Given the description of an element on the screen output the (x, y) to click on. 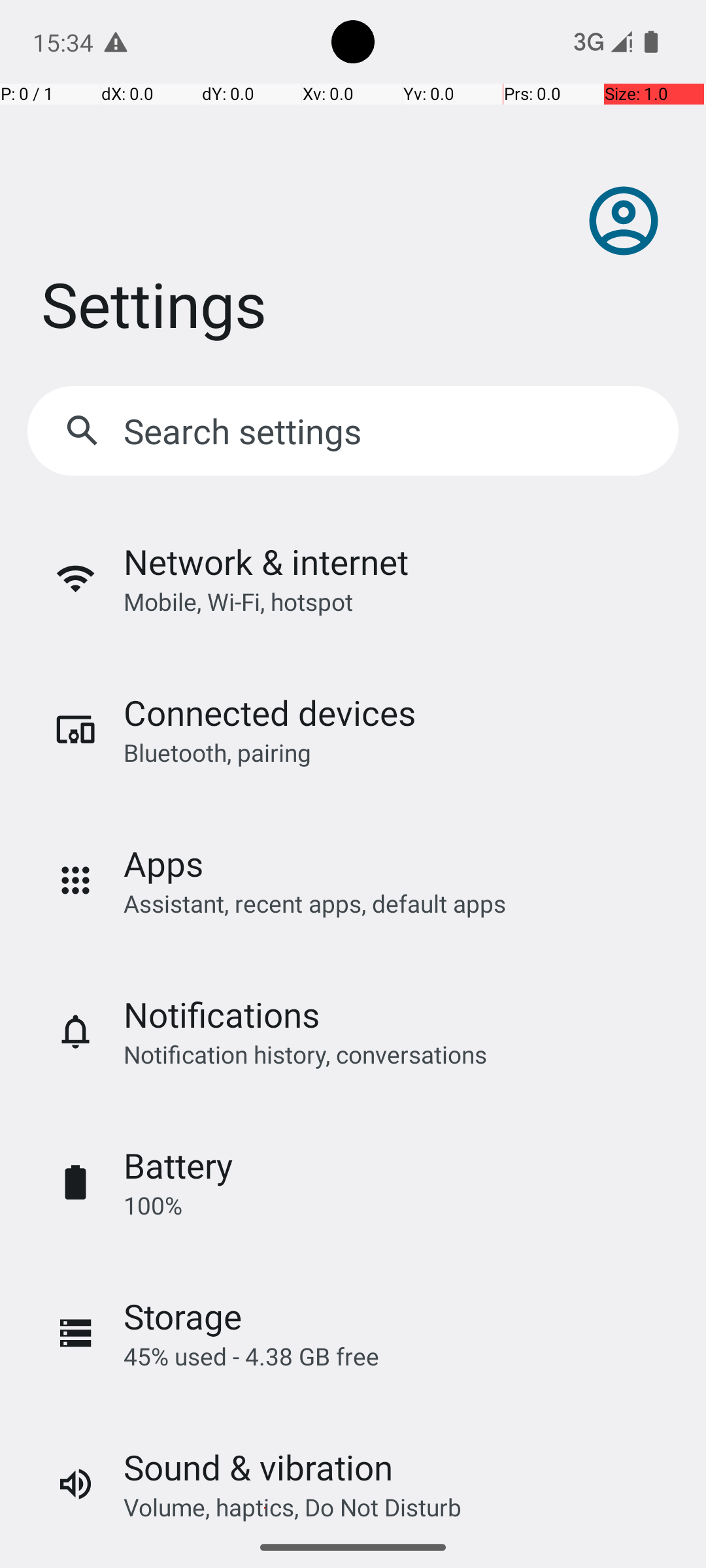
45% used - 4.38 GB free Element type: android.widget.TextView (251, 1355)
